Given the description of an element on the screen output the (x, y) to click on. 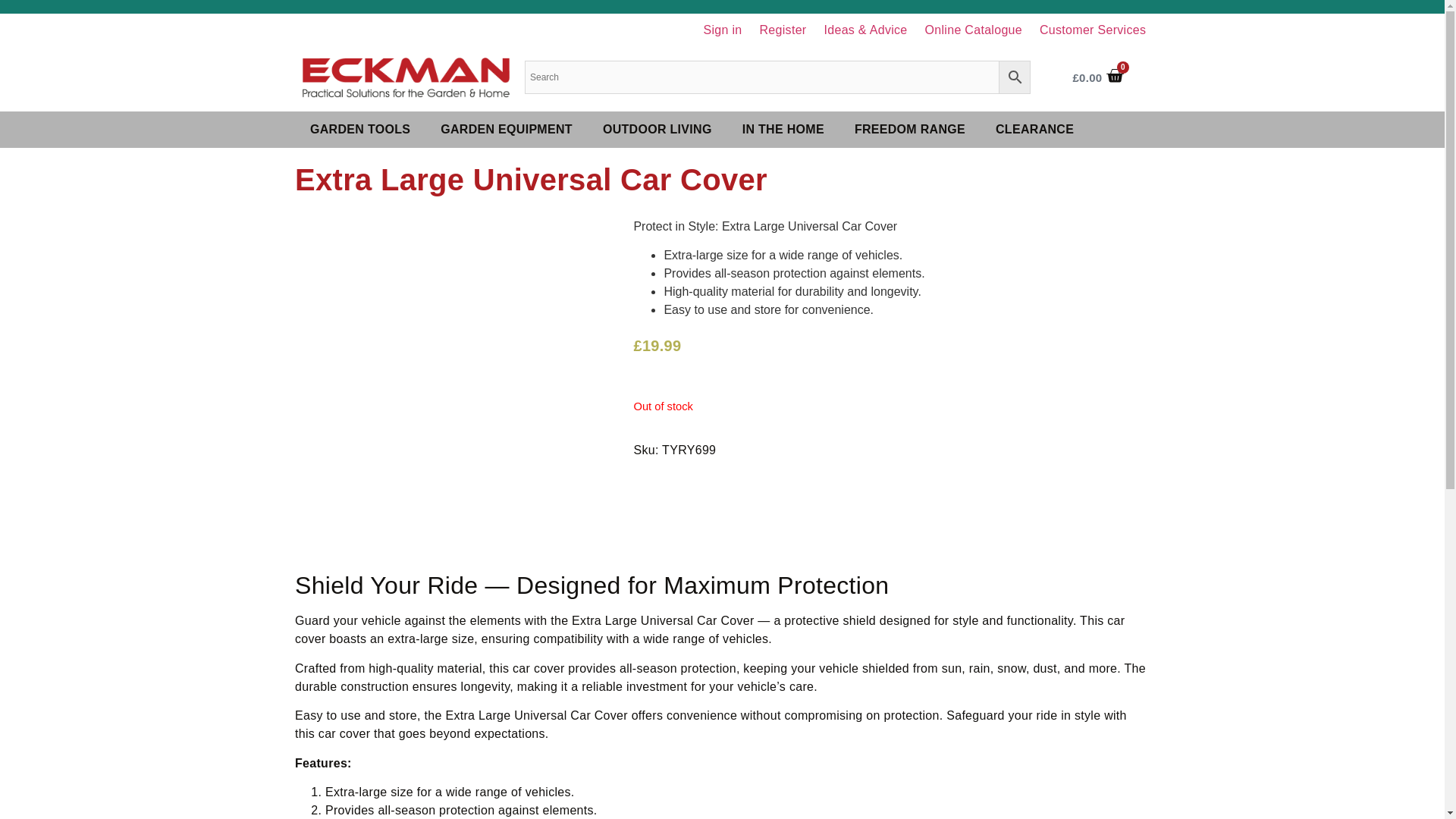
Customer Services  (1094, 29)
Register (783, 29)
Online Catalogue (973, 29)
Sign in (722, 29)
GARDEN TOOLS (360, 129)
IN THE HOME (783, 129)
GARDEN EQUIPMENT (506, 129)
OUTDOOR LIVING (657, 129)
